Given the description of an element on the screen output the (x, y) to click on. 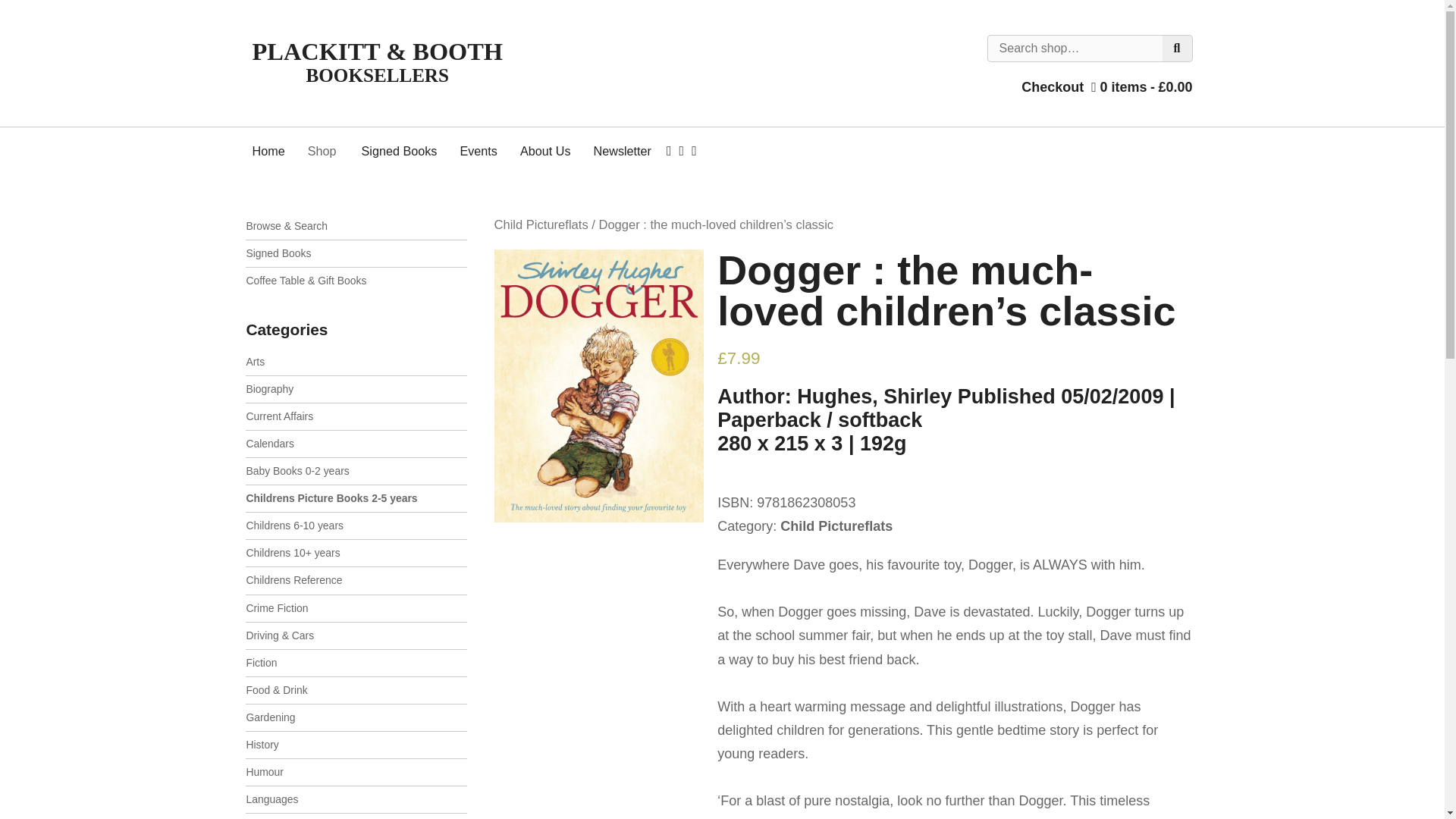
Childrens Picture Books 2-5 years (355, 498)
Arts (355, 361)
Baby Books 0-2 years (355, 470)
Childrens 6-10 years (355, 525)
Home (271, 150)
Biography (355, 388)
Calendars (355, 443)
Current Affairs (355, 416)
Checkout (1048, 87)
Signed Books (398, 150)
Search (1176, 48)
Shop (322, 150)
About Us (545, 150)
Start shopping (1137, 87)
Signed Books (355, 253)
